Given the description of an element on the screen output the (x, y) to click on. 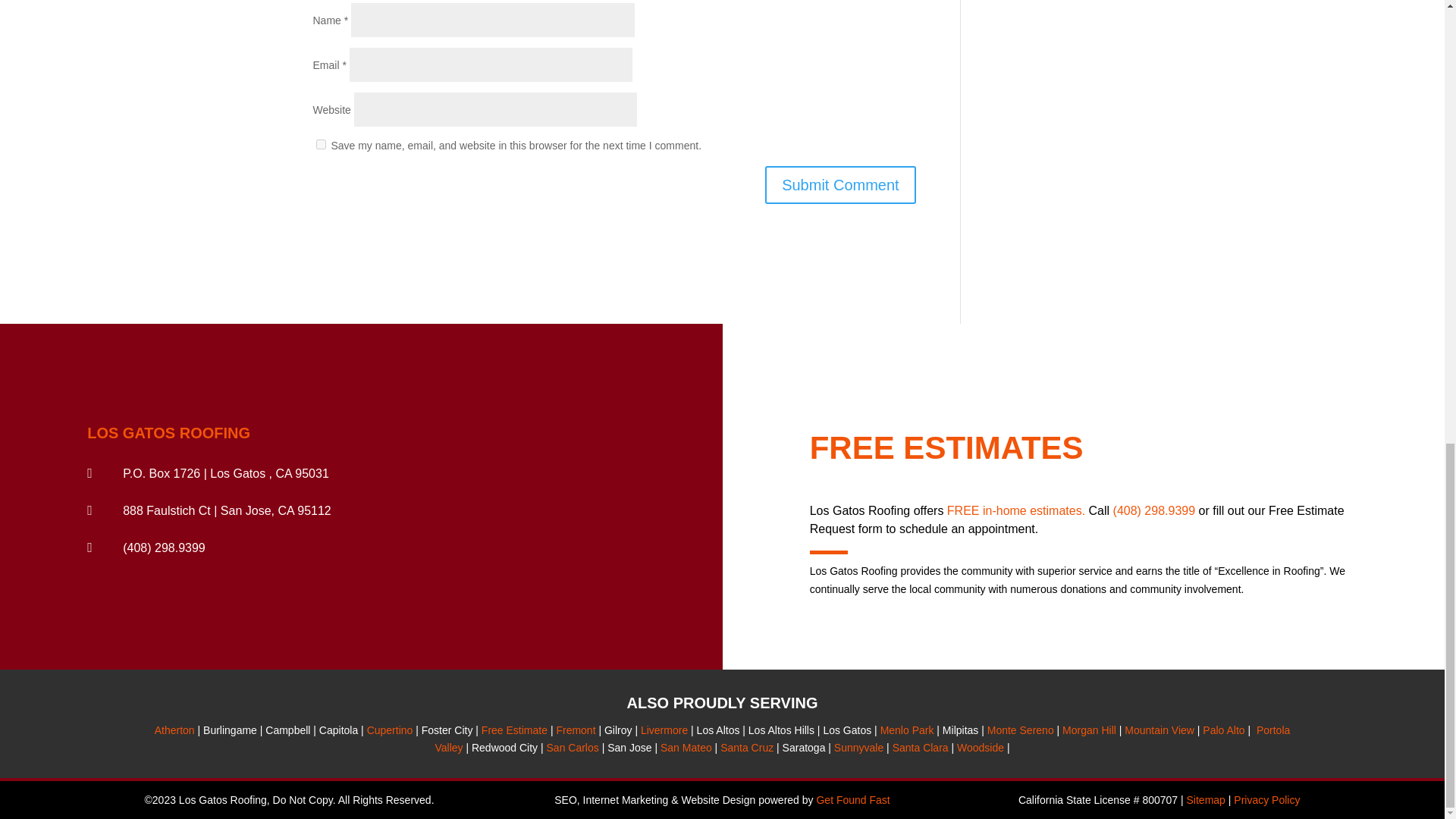
Submit Comment (840, 184)
LOS GATOS ROOFING (168, 433)
Submit Comment (840, 184)
FREE in-home estimates. (1015, 510)
yes (319, 144)
